Given the description of an element on the screen output the (x, y) to click on. 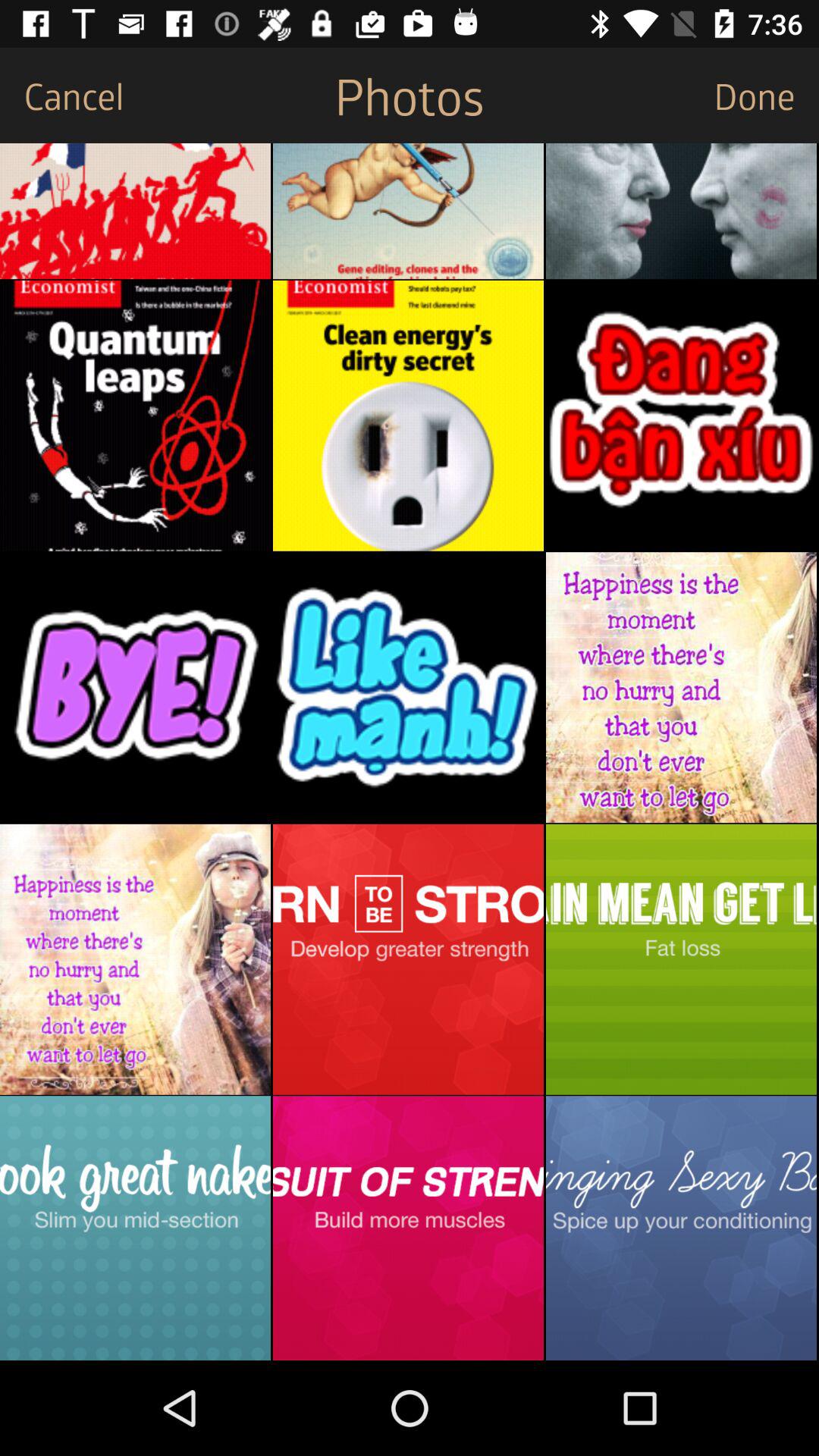
click image (408, 959)
